Given the description of an element on the screen output the (x, y) to click on. 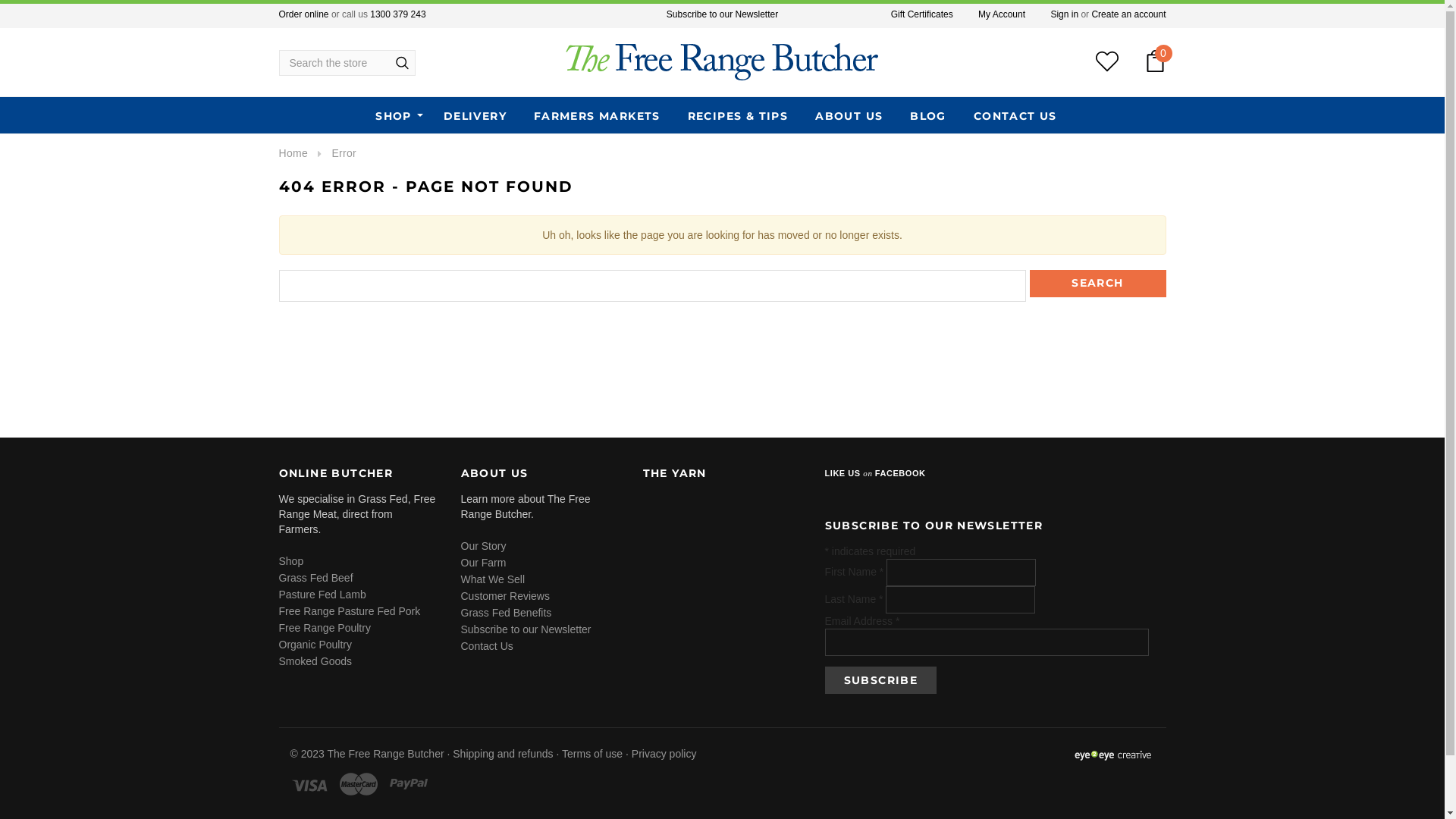
Website by Eye 2 Eye Creative Element type: hover (1112, 754)
Order online Element type: text (304, 14)
Subscribe to our Newsletter Element type: text (526, 629)
SHOP Element type: text (393, 116)
Home Element type: text (293, 153)
CONTACT US Element type: text (1015, 116)
Smoked Goods Element type: text (315, 661)
Gift Certificates Element type: text (922, 14)
Subscribe to our Newsletter Element type: text (722, 14)
Create an account Element type: text (1128, 14)
Search Element type: text (1097, 283)
Subscribe Element type: text (881, 679)
Grass Fed Beef Element type: text (316, 577)
Customer Reviews Element type: text (505, 595)
1300 379 243 Element type: text (397, 14)
Our Farm Element type: text (483, 562)
My Account Element type: text (1001, 14)
Error Element type: text (343, 153)
Terms of use Element type: text (591, 753)
Contact Us Element type: text (487, 646)
The Free Range Butcher Element type: hover (721, 62)
ABOUT US Element type: text (848, 116)
What We Sell Element type: text (493, 579)
FARMERS MARKETS Element type: text (596, 116)
Free Range Poultry Element type: text (324, 627)
Shop Element type: text (291, 561)
Our Story Element type: text (483, 545)
Sign in Element type: text (1064, 14)
Grass Fed Benefits Element type: text (506, 612)
Shipping and refunds Element type: text (502, 753)
Pasture Fed Lamb Element type: text (322, 594)
DELIVERY Element type: text (474, 116)
Free Range Pasture Fed Pork Element type: text (349, 611)
BLOG Element type: text (928, 116)
Privacy policy Element type: text (663, 753)
RECIPES & TIPS Element type: text (737, 116)
0 Element type: text (1154, 61)
Organic Poultry Element type: text (315, 644)
